Given the description of an element on the screen output the (x, y) to click on. 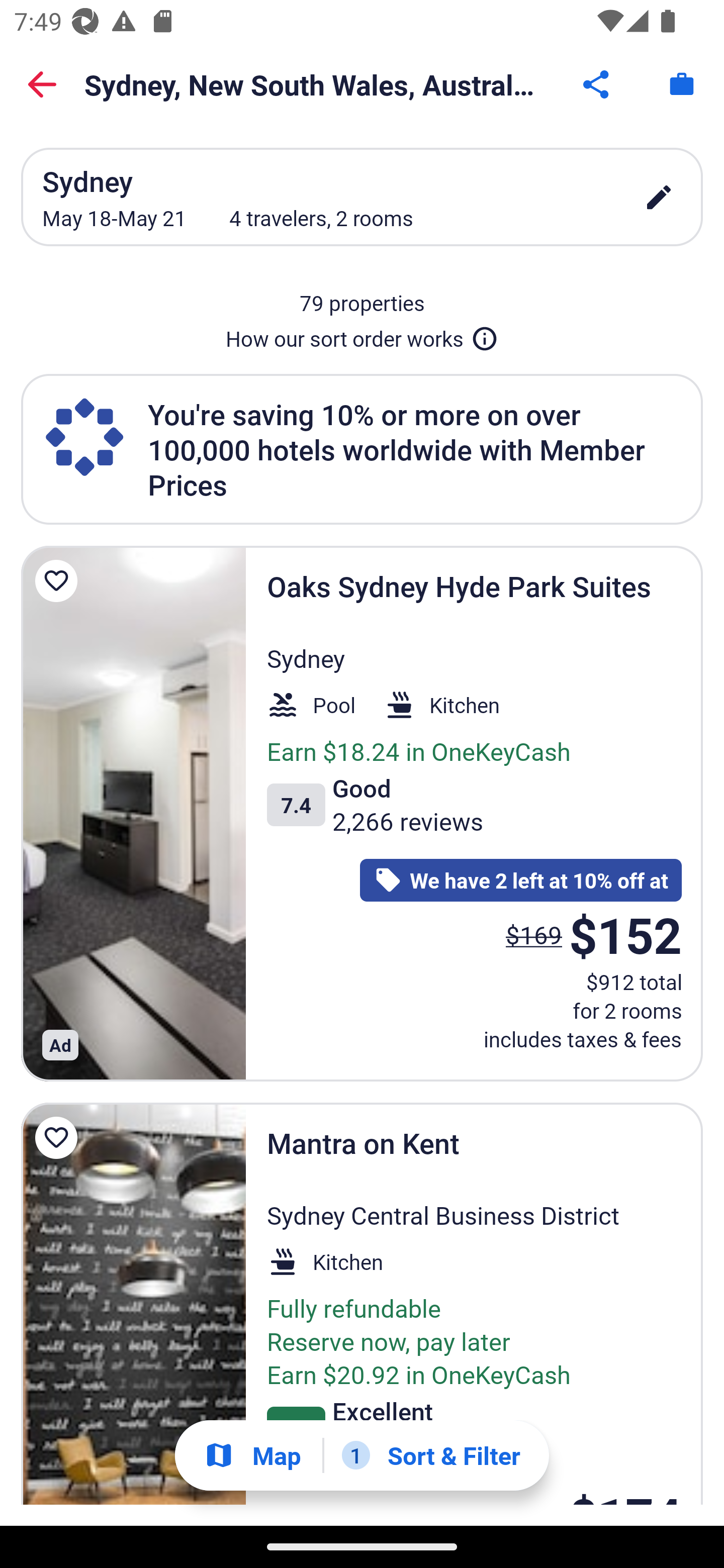
Back (42, 84)
Share Button (597, 84)
Trips. Button (681, 84)
Sydney May 18-May 21 4 travelers, 2 rooms edit (361, 196)
How our sort order works (361, 334)
Save Oaks Sydney Hyde Park Suites to a trip (59, 580)
Oaks Sydney Hyde Park Suites (133, 813)
$169 The price was $169 (533, 934)
Save Mantra on Kent to a trip (59, 1138)
Mantra on Kent (133, 1303)
1 Sort & Filter 1 Filter applied. Filters Button (430, 1455)
Show map Map Show map Button (252, 1455)
